Given the description of an element on the screen output the (x, y) to click on. 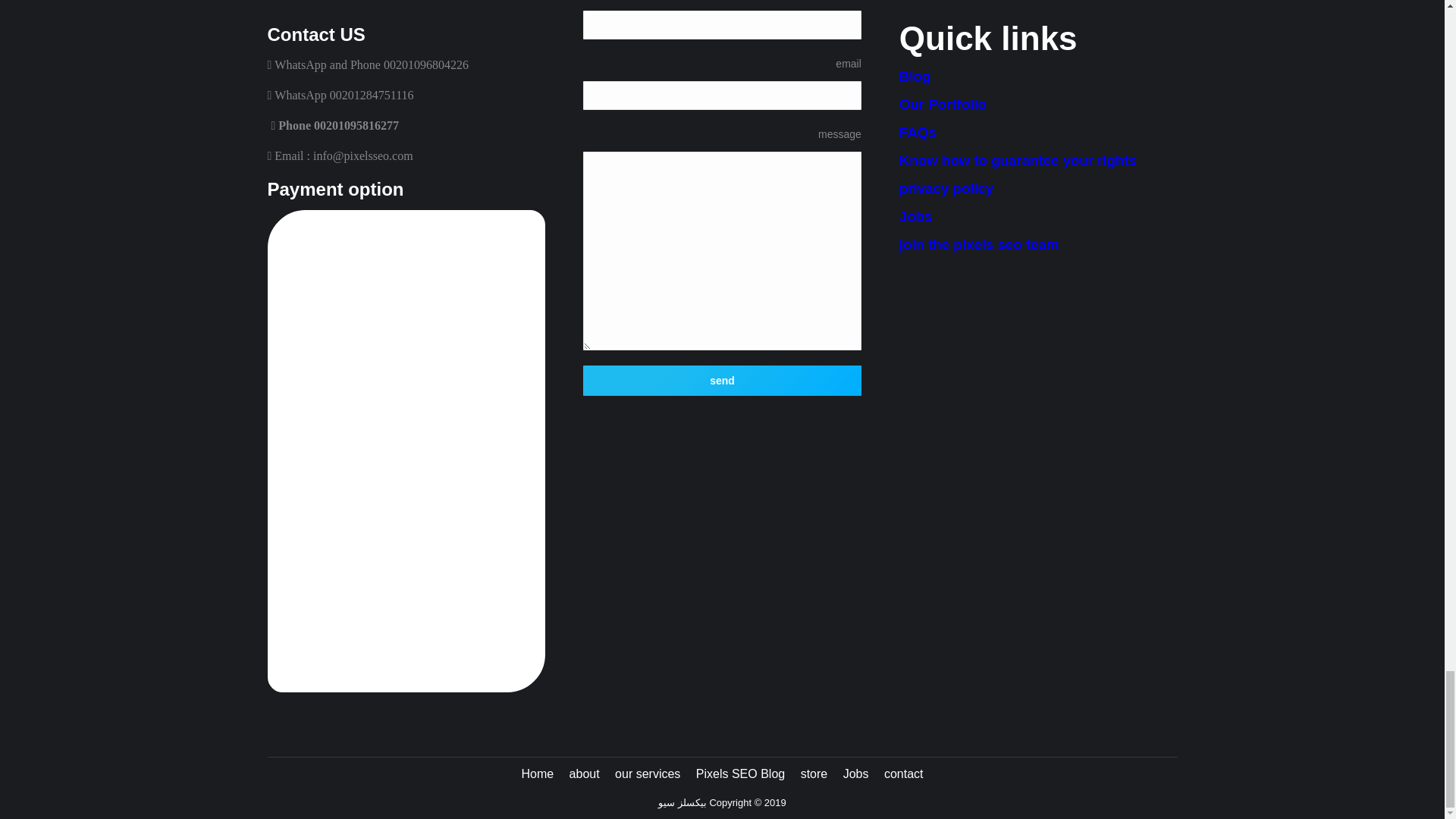
send (722, 380)
